Given the description of an element on the screen output the (x, y) to click on. 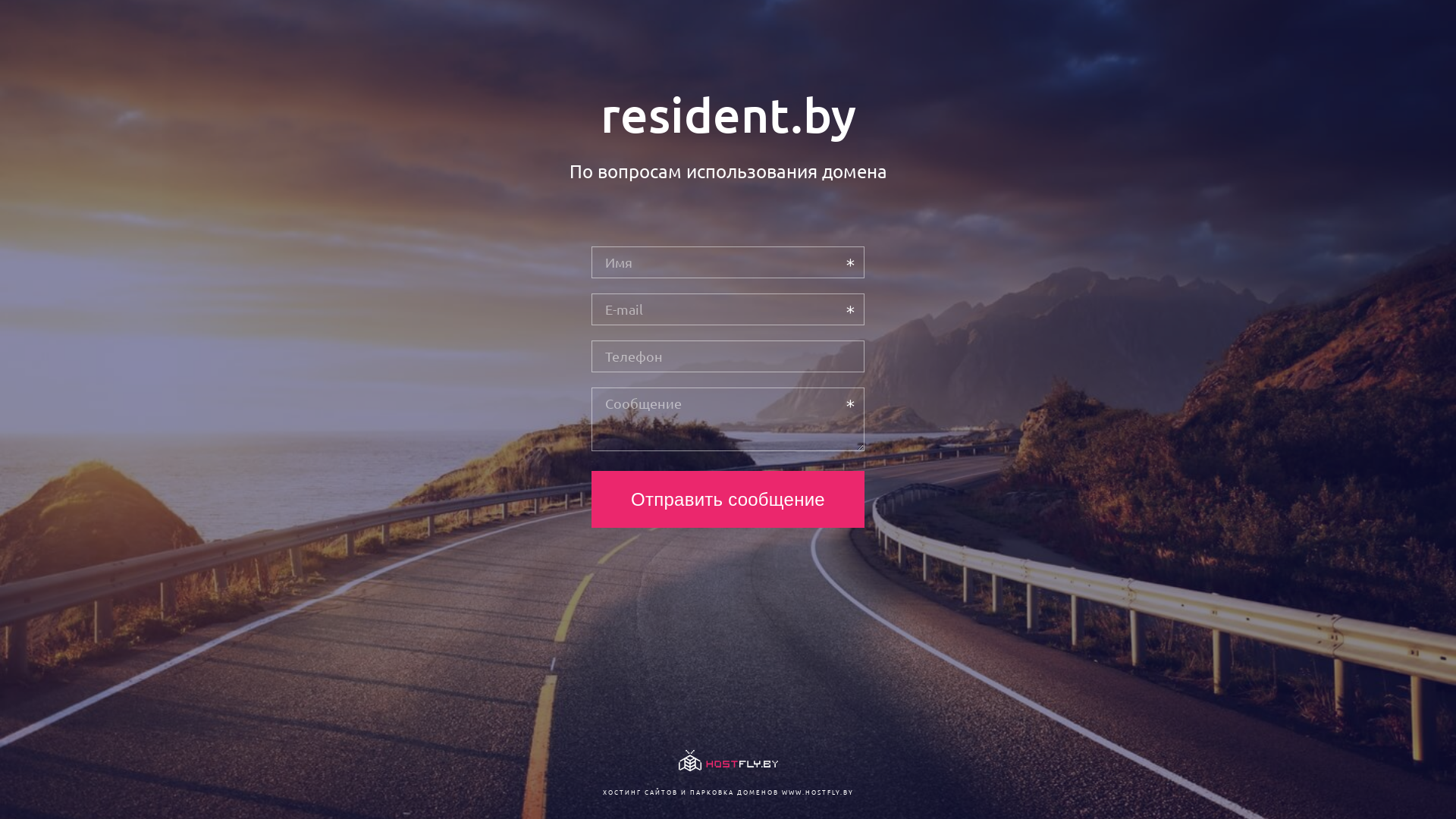
WWW.HOSTFLY.BY Element type: text (817, 791)
